Given the description of an element on the screen output the (x, y) to click on. 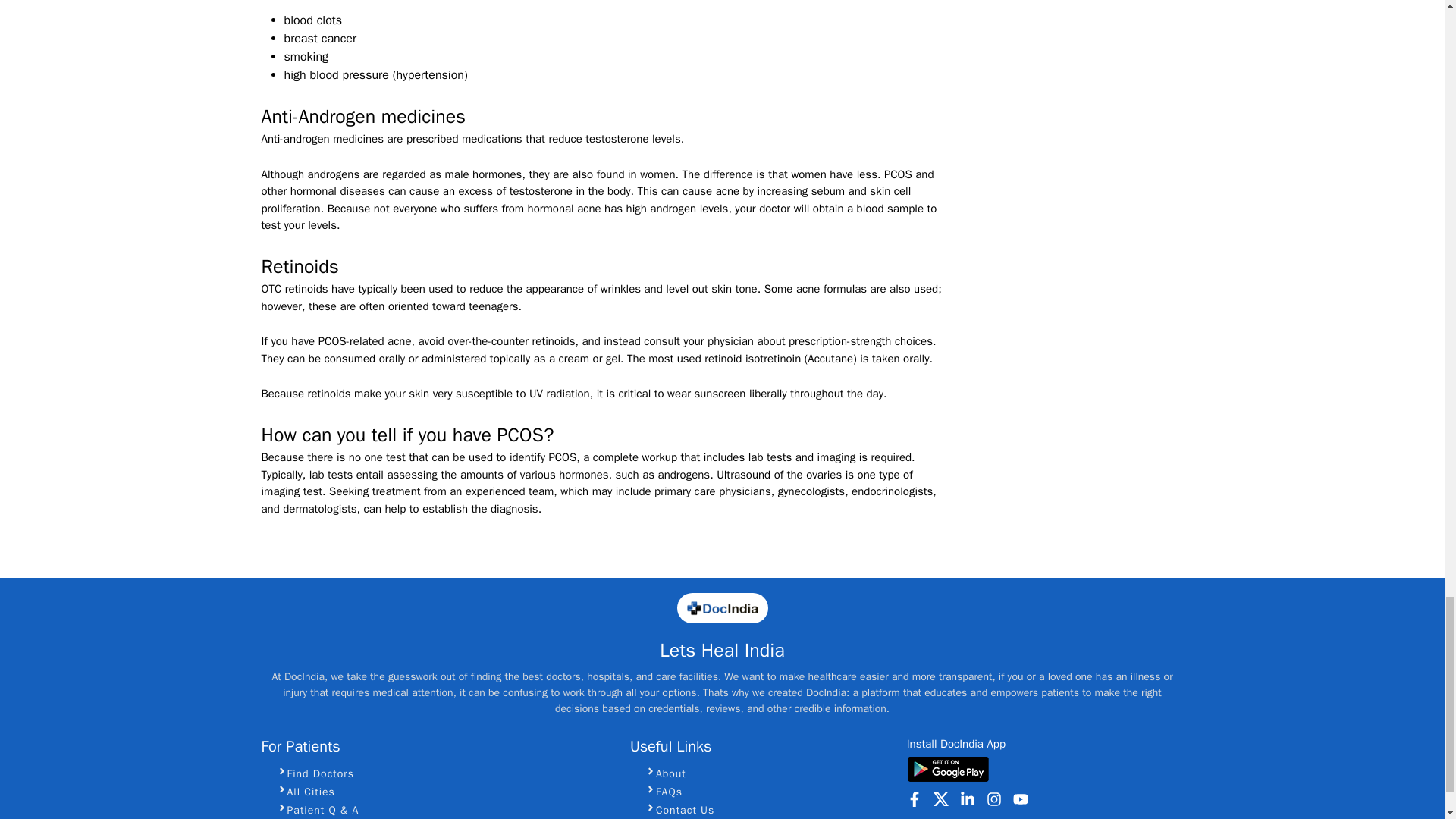
Twitter (941, 798)
Linkedin (967, 798)
FAQs (768, 791)
Find Doctors (444, 773)
Facebook (914, 798)
Youtube (1020, 798)
Instagram (994, 798)
About (768, 773)
All Cities (444, 791)
Contact Us (768, 810)
